Given the description of an element on the screen output the (x, y) to click on. 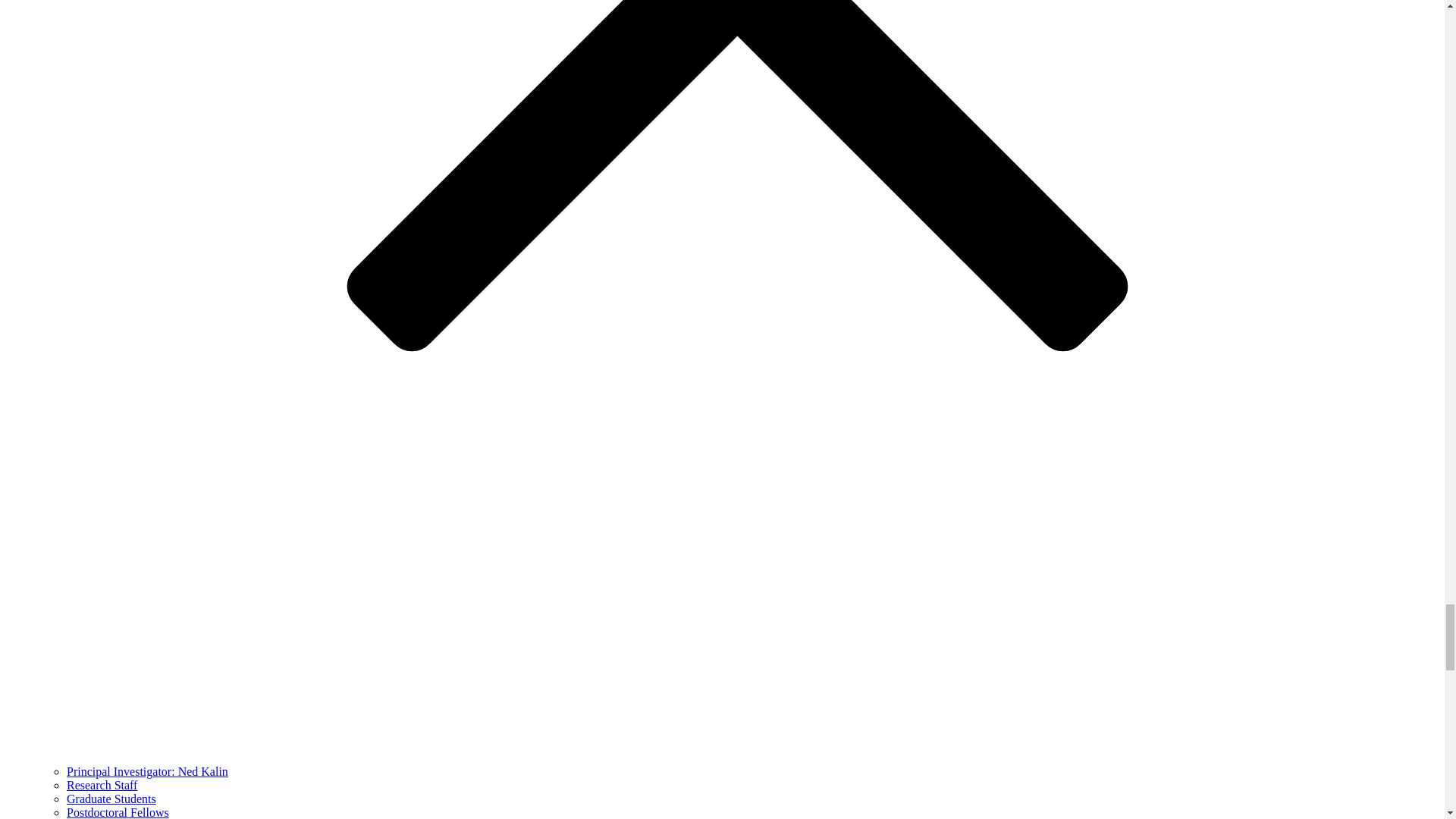
Graduate Students (110, 798)
Research Staff (101, 784)
Principal Investigator: Ned Kalin (147, 771)
Postdoctoral Fellows (117, 812)
